Given the description of an element on the screen output the (x, y) to click on. 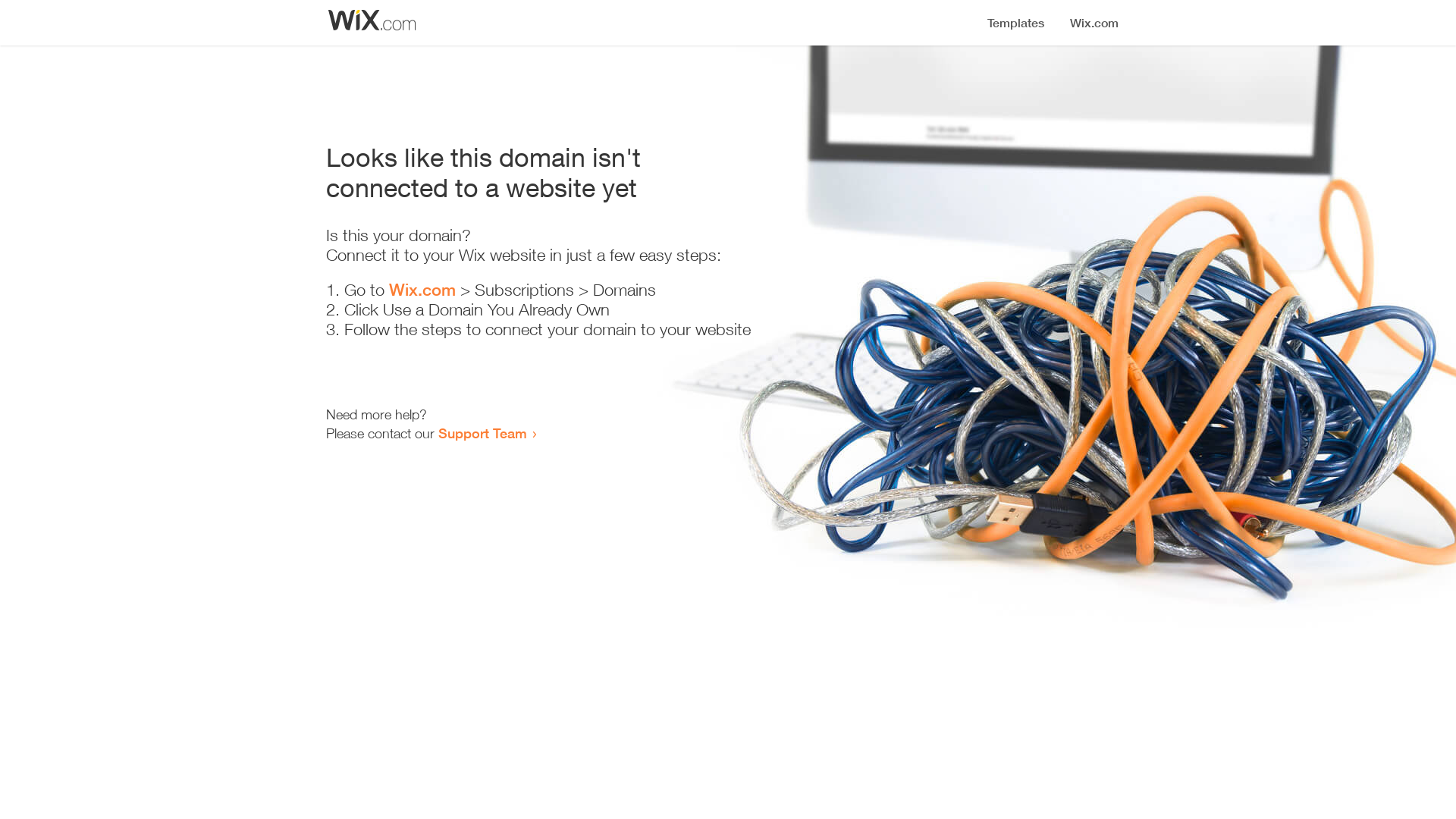
Wix.com Element type: text (422, 289)
Support Team Element type: text (482, 432)
